Given the description of an element on the screen output the (x, y) to click on. 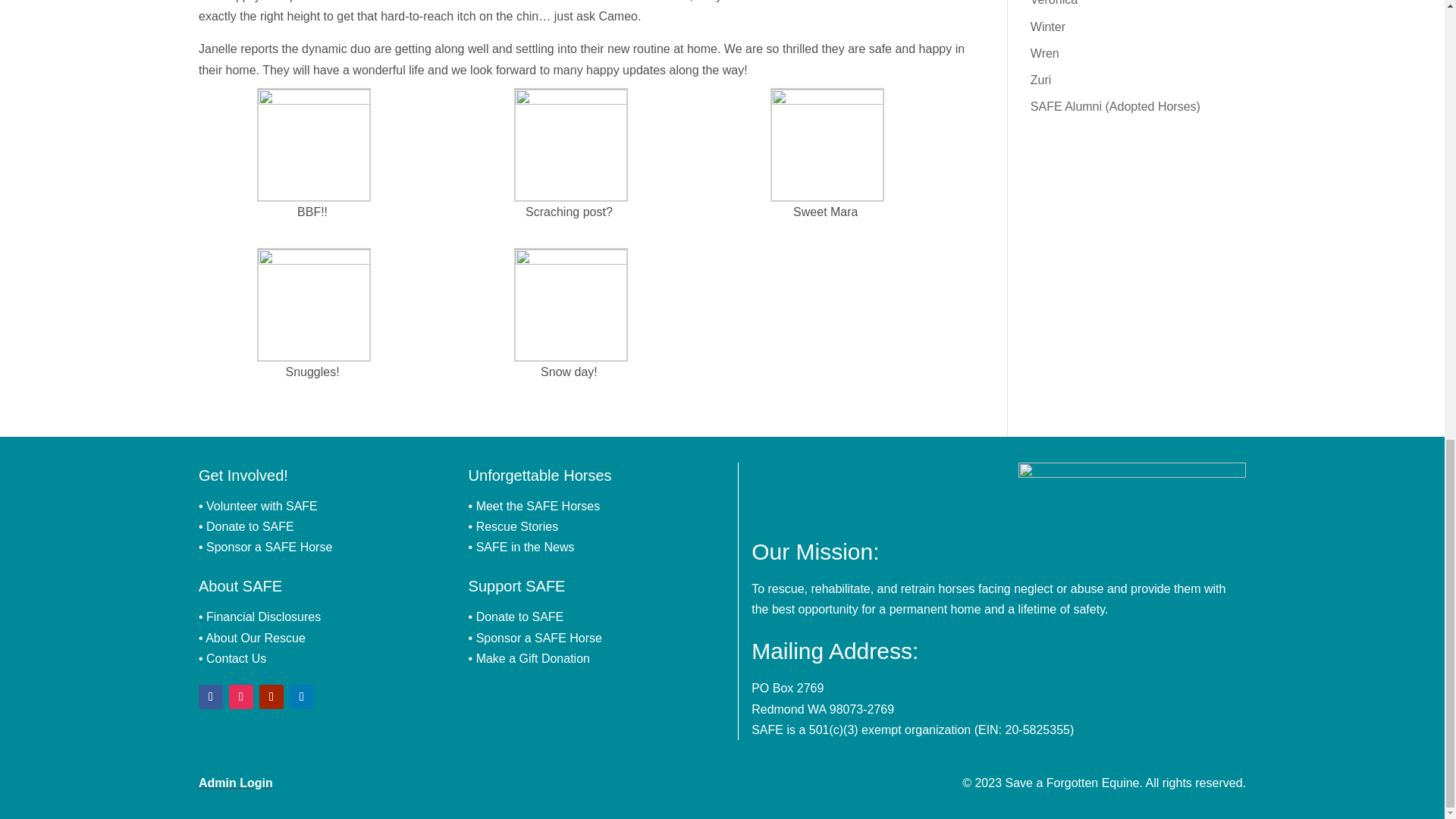
Follow on Facebook (210, 696)
Follow on Youtube (271, 696)
Follow on Instagram (240, 696)
Follow on LinkedIn (301, 696)
